Given the description of an element on the screen output the (x, y) to click on. 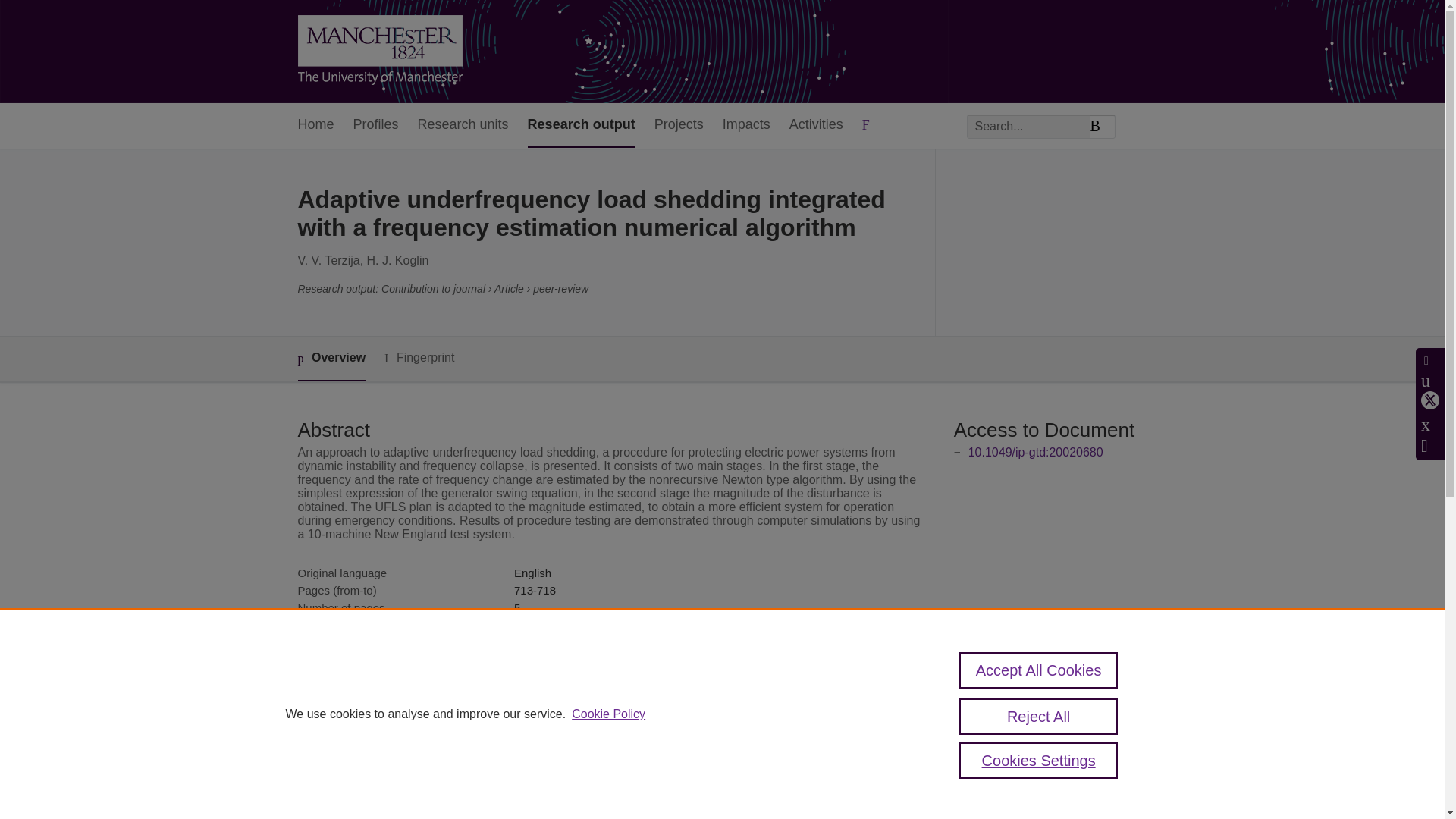
Projects (678, 125)
IEE Proceedings: Generation, Transmission and Distribution (664, 625)
Research output (580, 125)
Overview (331, 358)
Research units (462, 125)
Fingerprint (419, 358)
Activities (816, 125)
Profiles (375, 125)
Research Explorer The University of Manchester Home (379, 51)
